Given the description of an element on the screen output the (x, y) to click on. 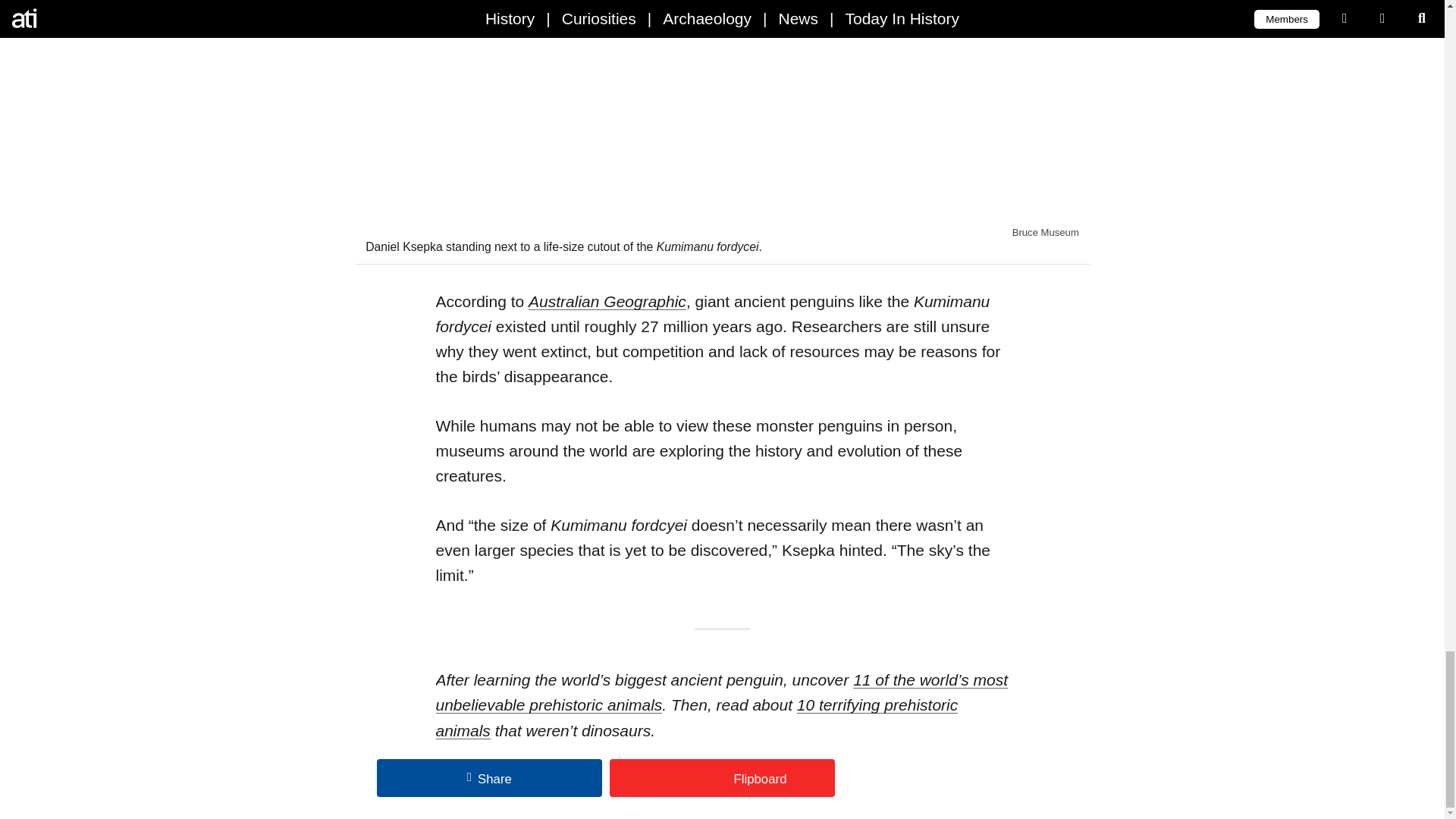
10 terrifying prehistoric animals (696, 717)
Share (489, 777)
Flipboard (722, 777)
Australian Geographic (606, 301)
